Given the description of an element on the screen output the (x, y) to click on. 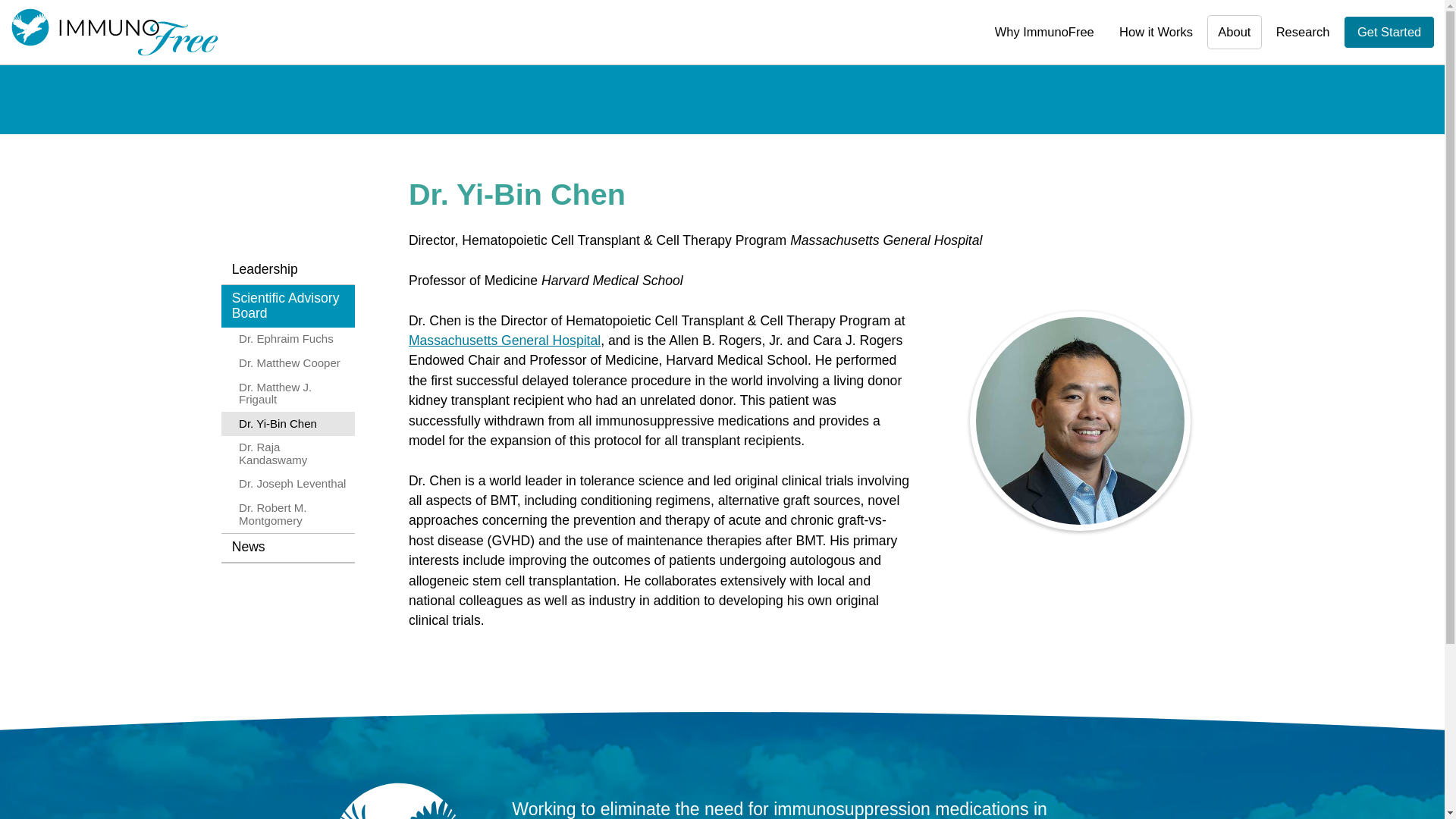
Why ImmunoFree (1044, 32)
Leadership (288, 270)
Get Started (1388, 31)
How it Works (1156, 32)
Dr. Robert M. Montgomery (288, 514)
About (1234, 32)
Dr. Ephraim Fuchs (288, 339)
Dr. Raja Kandaswamy (288, 453)
Research (1302, 32)
Dr. Matthew J. Frigault (288, 393)
